Given the description of an element on the screen output the (x, y) to click on. 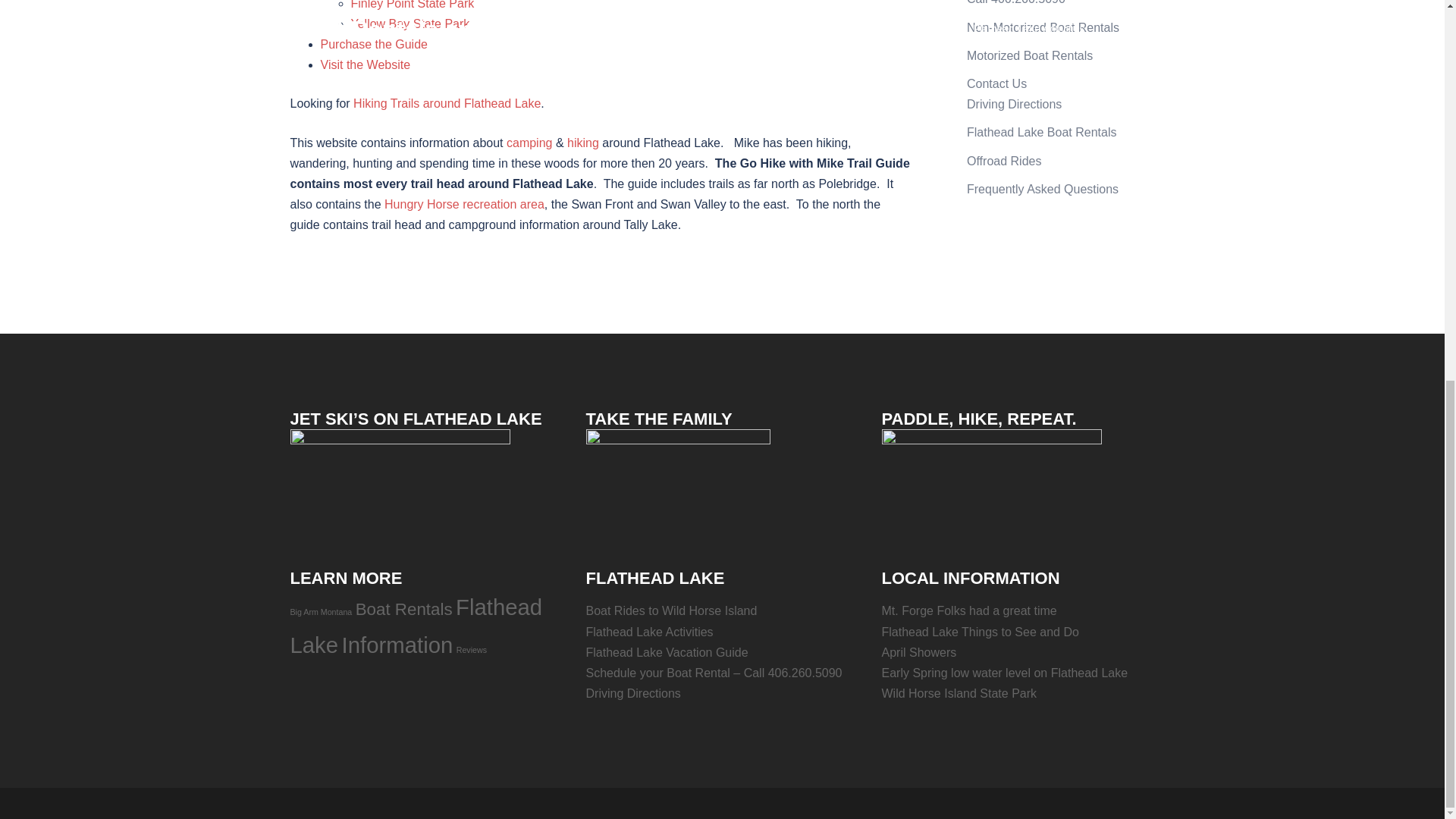
Hungry Horse recreation area (464, 204)
Finley Point State Park (412, 4)
camping (528, 142)
Visit the Website (365, 64)
Hiking Trails around Flathead Lake (446, 103)
Purchase the Guide (373, 43)
Yellow Bay State Park (409, 23)
hiking (582, 142)
